Given the description of an element on the screen output the (x, y) to click on. 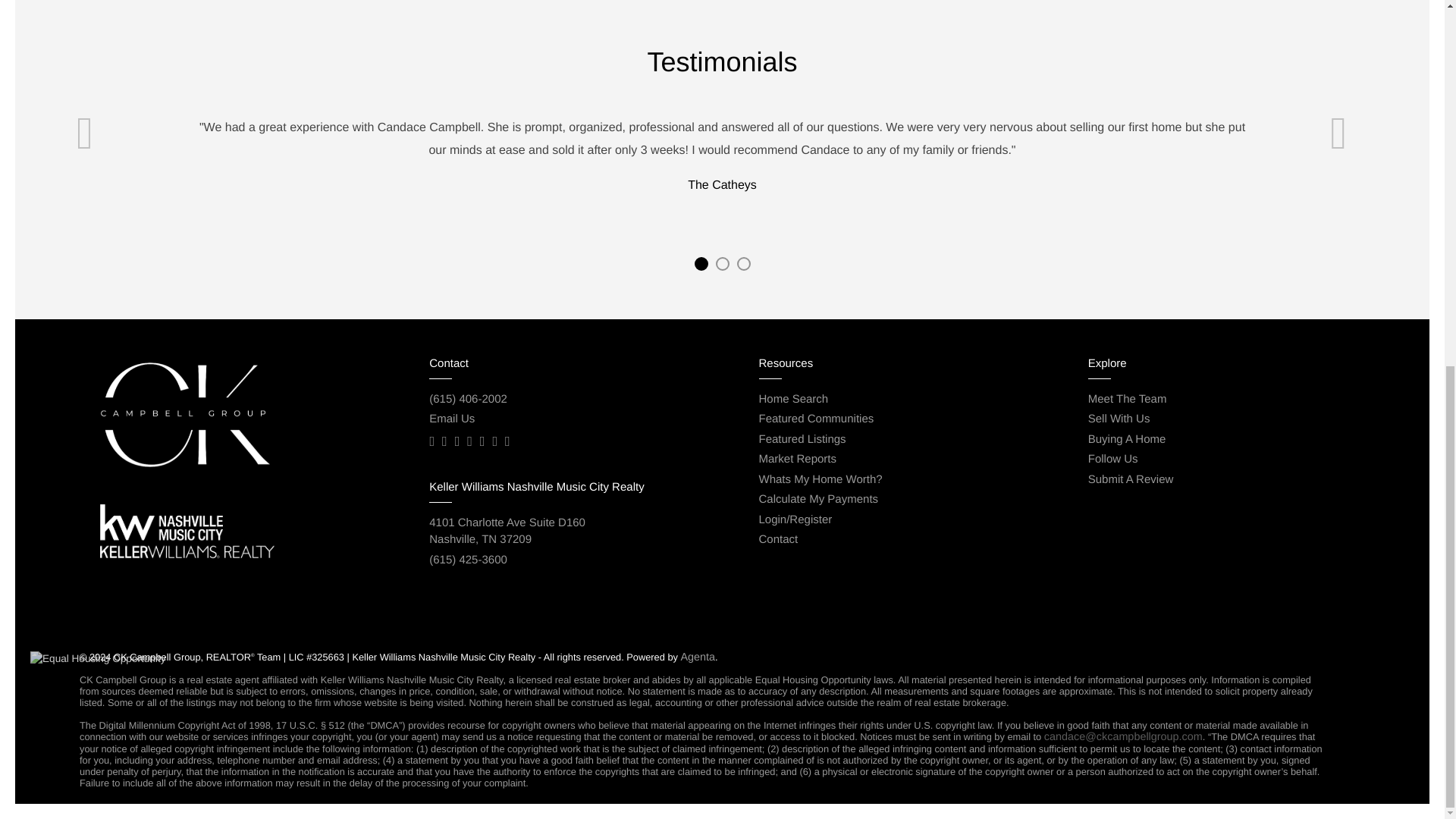
Equal Housing Opportunity (97, 658)
Email Us (507, 531)
Brokerage Logo (451, 419)
Logo (187, 530)
